Given the description of an element on the screen output the (x, y) to click on. 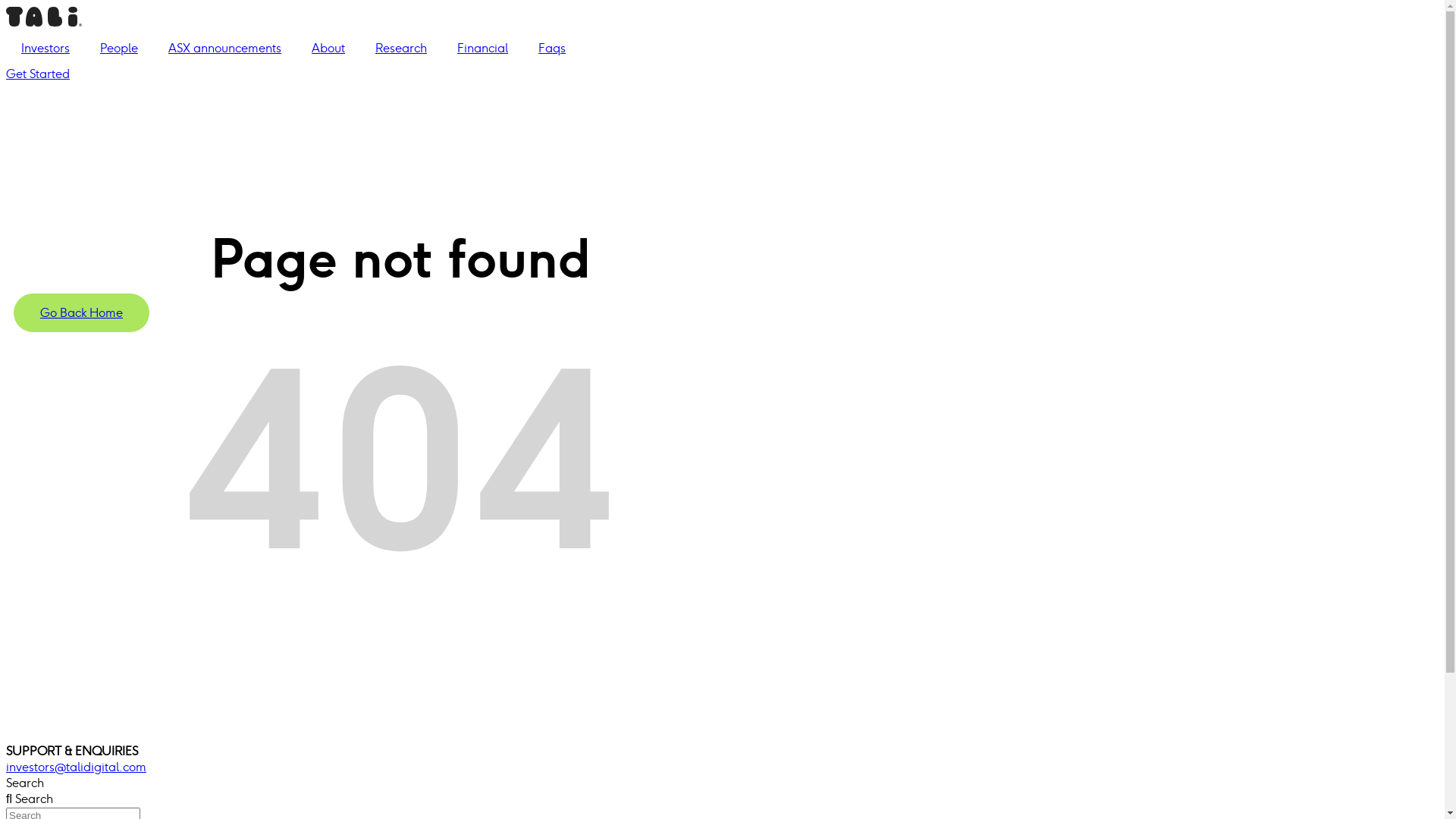
Get Started Element type: text (37, 73)
Research Element type: text (401, 48)
investors@talidigital.com Element type: text (392, 767)
People Element type: text (118, 48)
About Element type: text (328, 48)
Go Back Home Element type: text (81, 312)
Financial Element type: text (482, 48)
ASX announcements Element type: text (224, 48)
9C141BDD-1BF4-465E-AC03-B360EAFB2544 Element type: text (52, 735)
468E31FC-D477-48FB-8958-96D501191ABC Element type: text (43, 23)
Investors Element type: text (45, 48)
Faqs Element type: text (551, 48)
Skip to content Element type: text (5, 5)
